Given the description of an element on the screen output the (x, y) to click on. 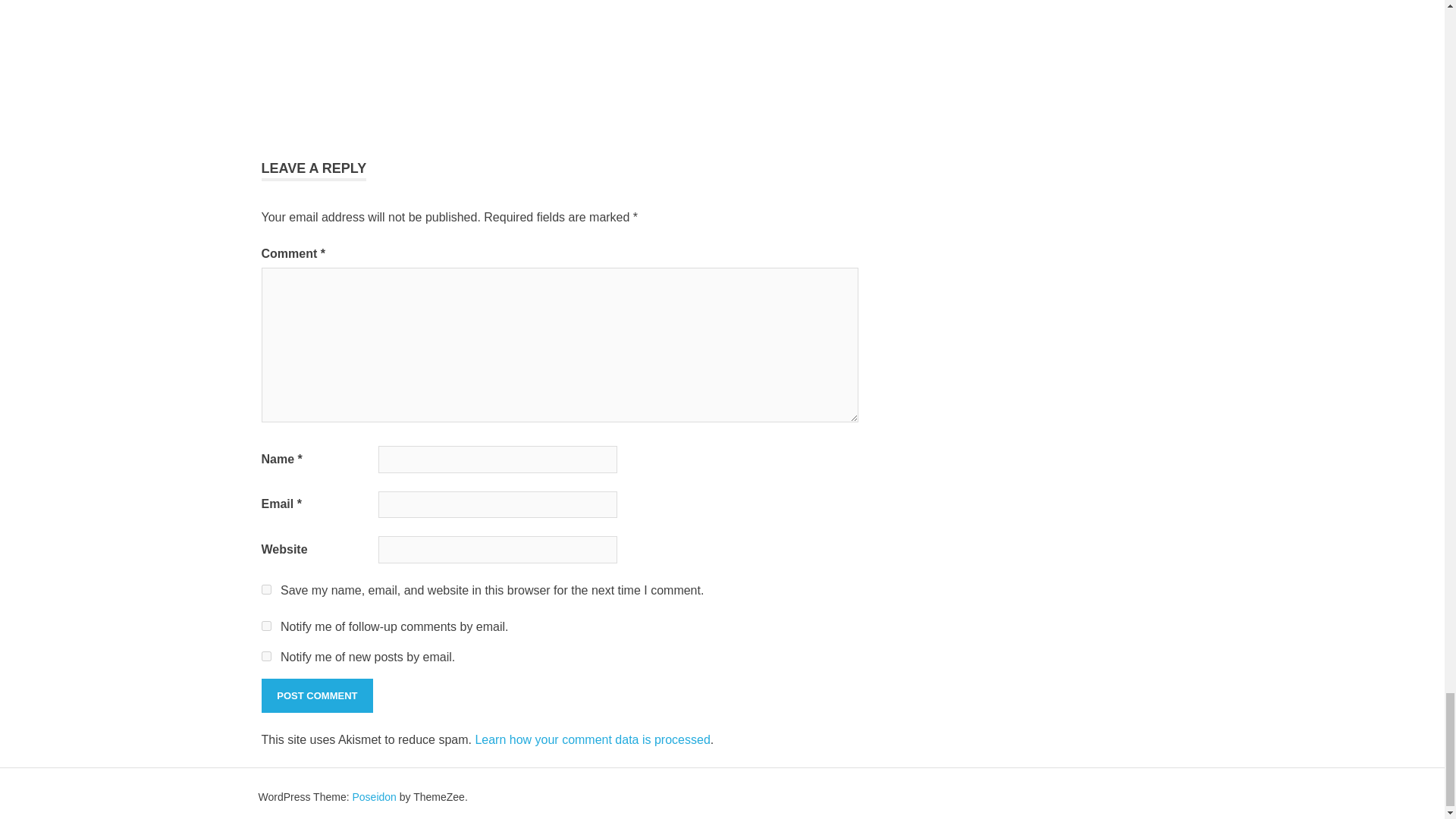
Learn how your comment data is processed (592, 739)
Poseidon WordPress Theme (374, 797)
Post Comment (316, 695)
subscribe (265, 625)
subscribe (265, 655)
yes (265, 589)
Post Comment (316, 695)
